Given the description of an element on the screen output the (x, y) to click on. 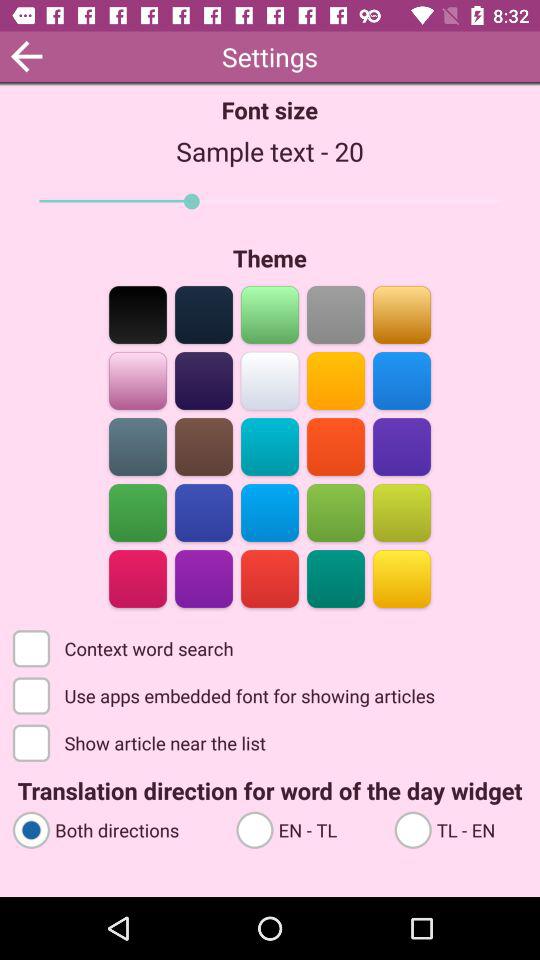
select the color bar (401, 445)
